Given the description of an element on the screen output the (x, y) to click on. 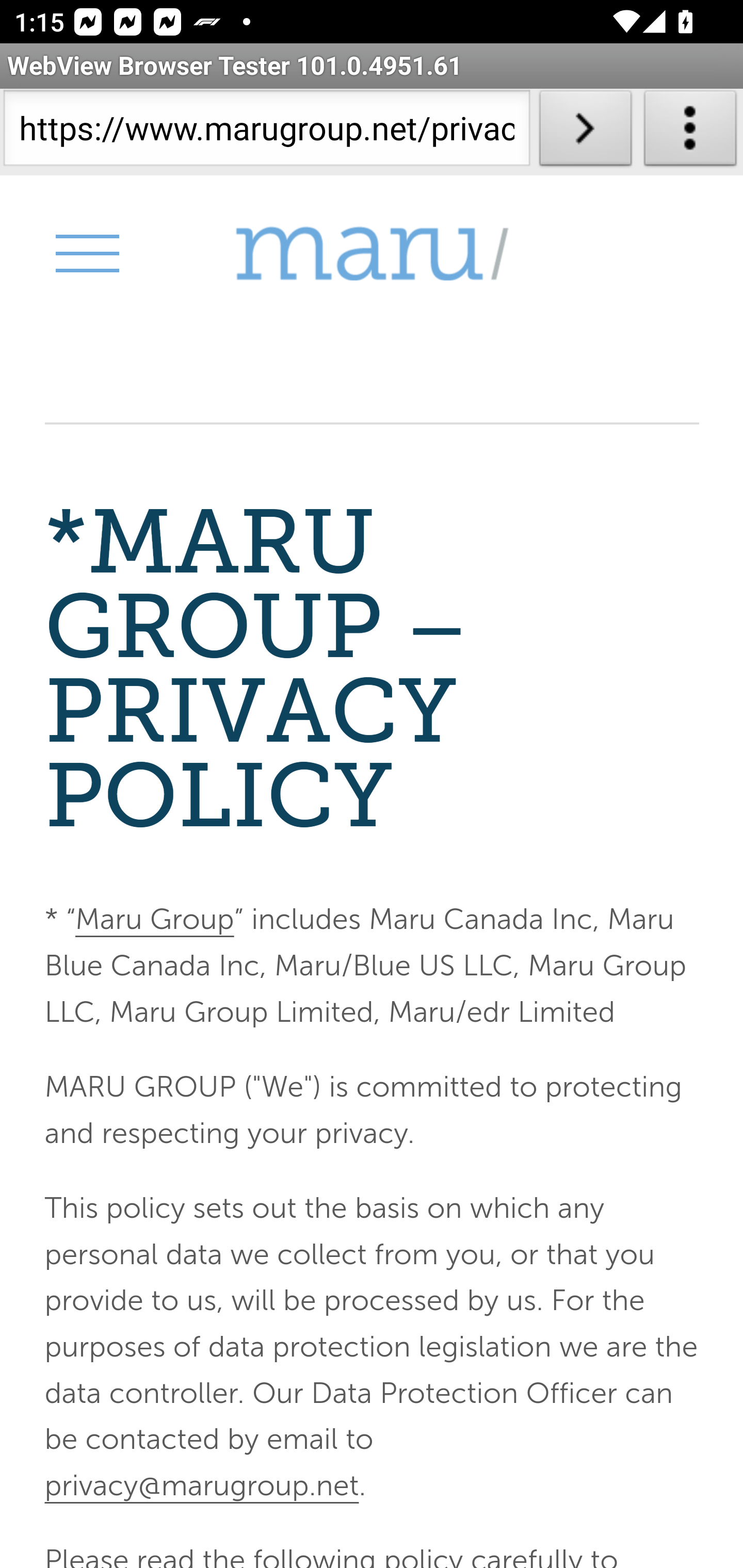
https://www.marugroup.net/privacy-policy/ (266, 132)
Load URL (585, 132)
About WebView (690, 132)
Open Menu (86, 252)
Maru Group (371, 253)
Maru Group (153, 920)
privacy@marugroup.net (200, 1484)
